Given the description of an element on the screen output the (x, y) to click on. 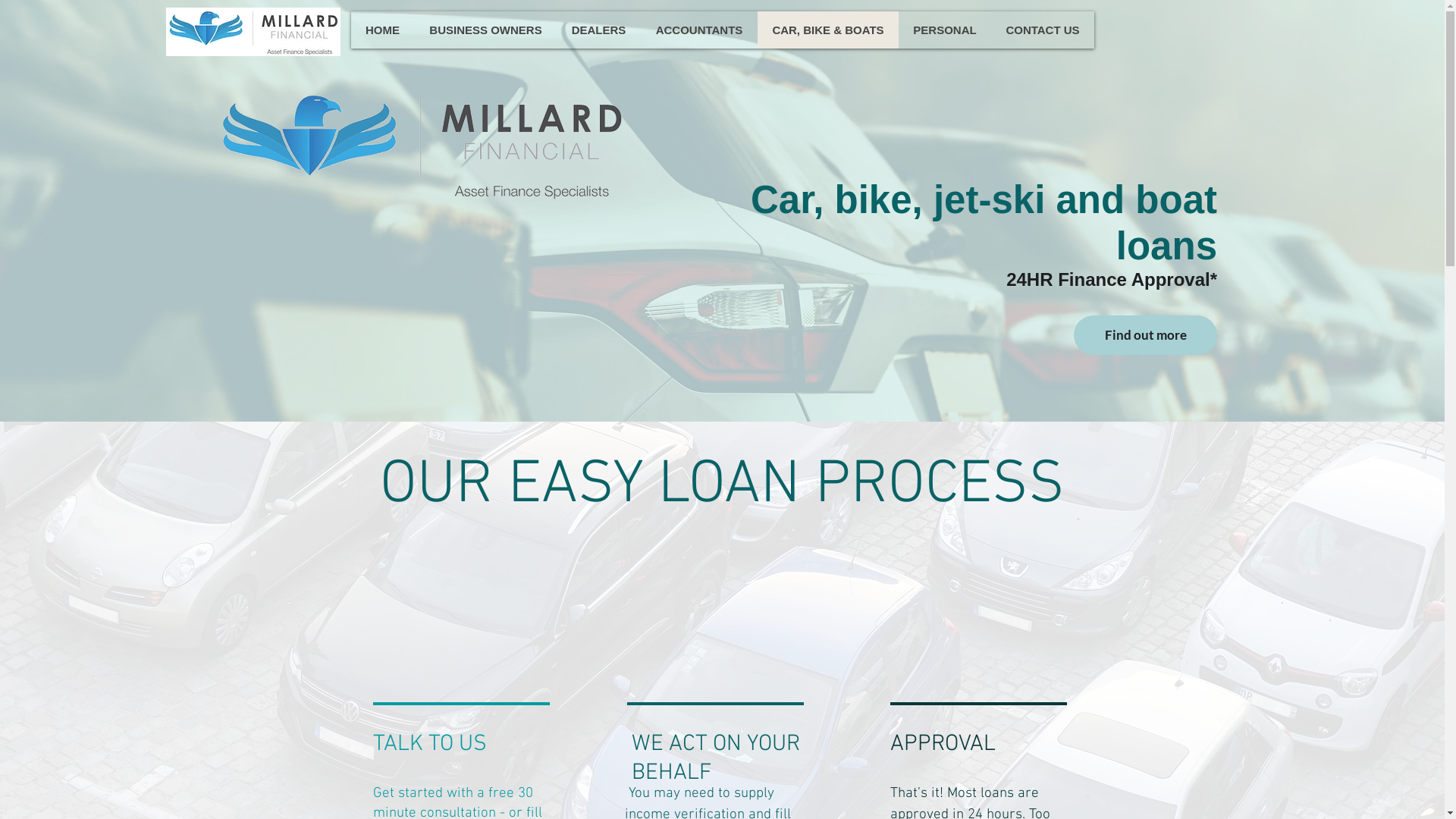
Find out more Element type: text (1145, 334)
DEALERS Element type: text (598, 29)
ACCOUNTANTS Element type: text (698, 29)
HOME Element type: text (382, 29)
CAR, BIKE & BOATS Element type: text (826, 29)
PERSONAL Element type: text (943, 29)
BUSINESS OWNERS Element type: text (484, 29)
CONTACT US Element type: text (1041, 29)
JPG Millard Financial logo beside.jpg Element type: hover (421, 143)
